Given the description of an element on the screen output the (x, y) to click on. 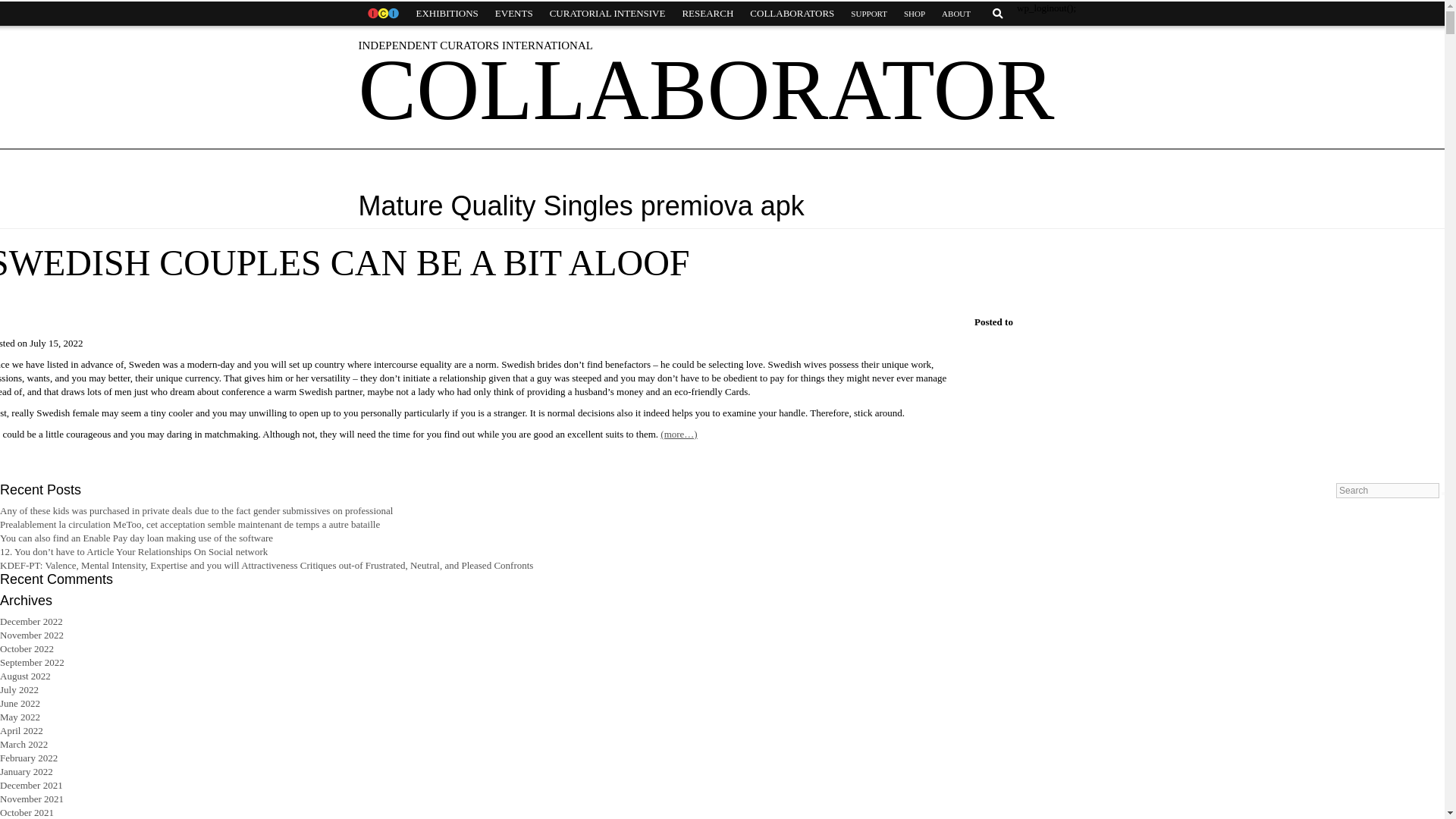
EVENTS (513, 13)
HOME (382, 13)
COLLABORATORS (792, 13)
RESEARCH (706, 13)
CURATORIAL INTENSIVE (607, 13)
EXHIBITIONS (446, 13)
